Given the description of an element on the screen output the (x, y) to click on. 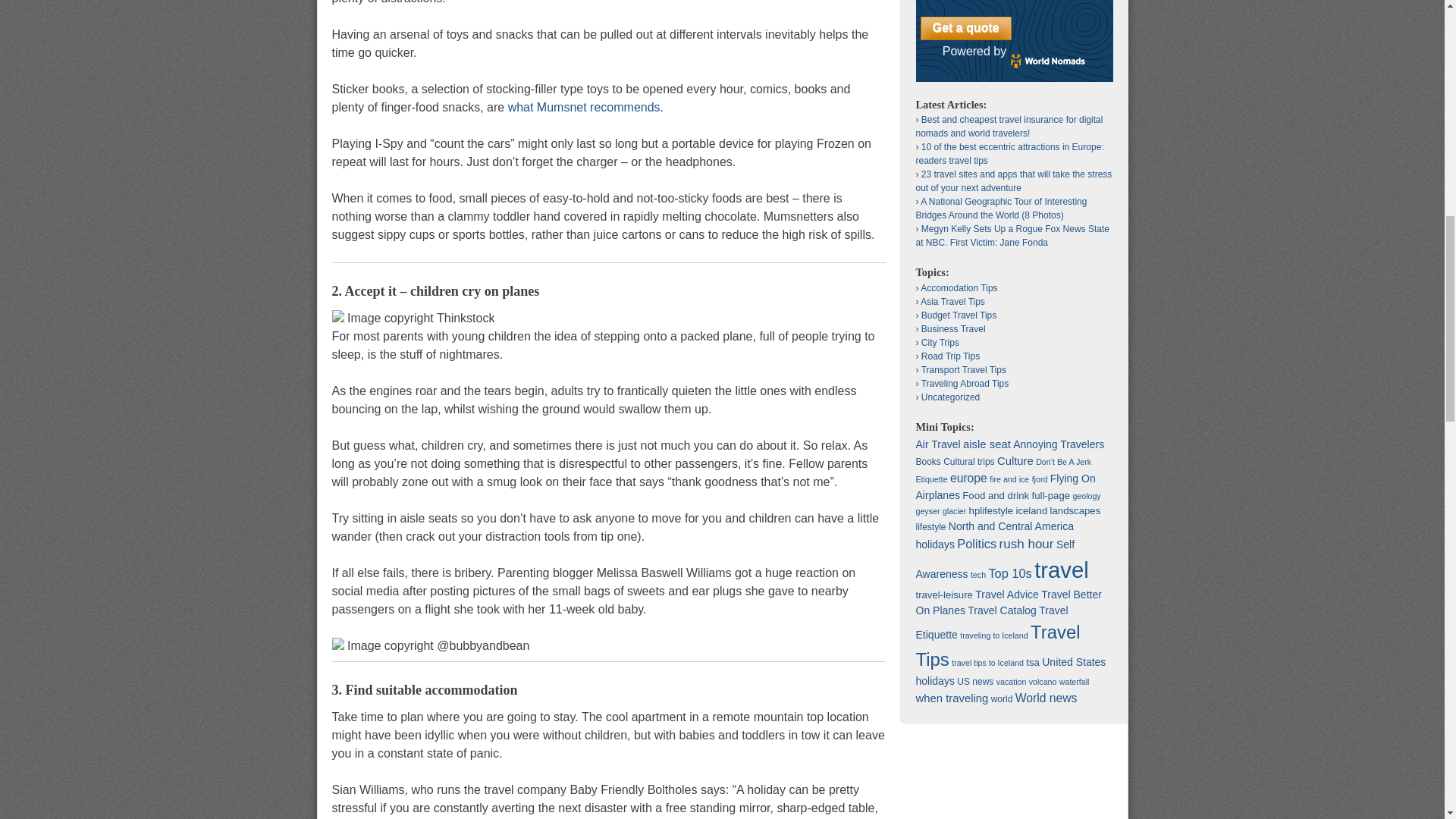
Get a quote (965, 28)
what Mumsnet recommends (584, 106)
